Given the description of an element on the screen output the (x, y) to click on. 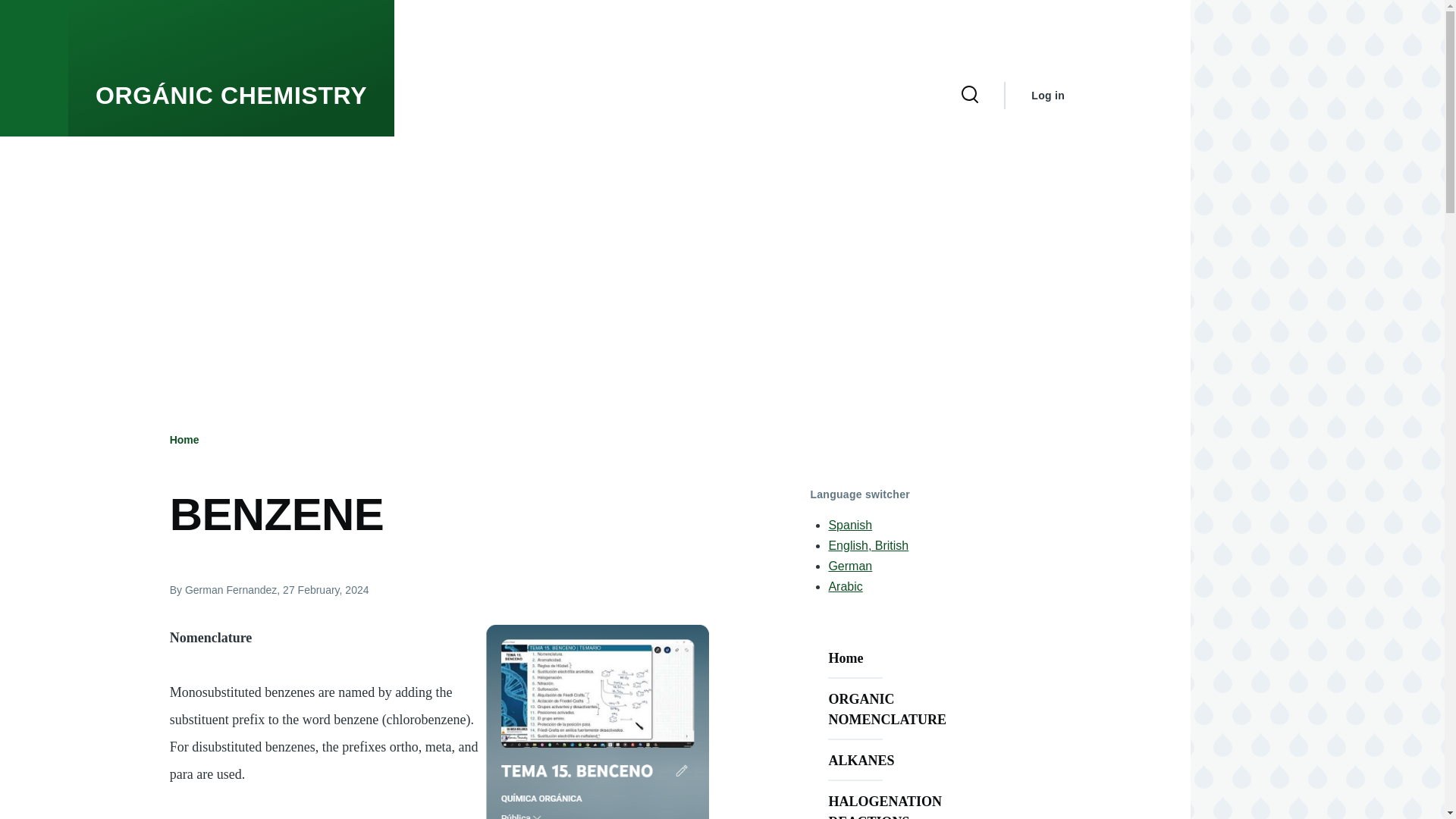
Home (231, 94)
German (850, 565)
Log in (1047, 94)
English, British (868, 545)
Spanish (850, 524)
Arabic (844, 585)
Skip to main content (595, 6)
Home (184, 439)
